Given the description of an element on the screen output the (x, y) to click on. 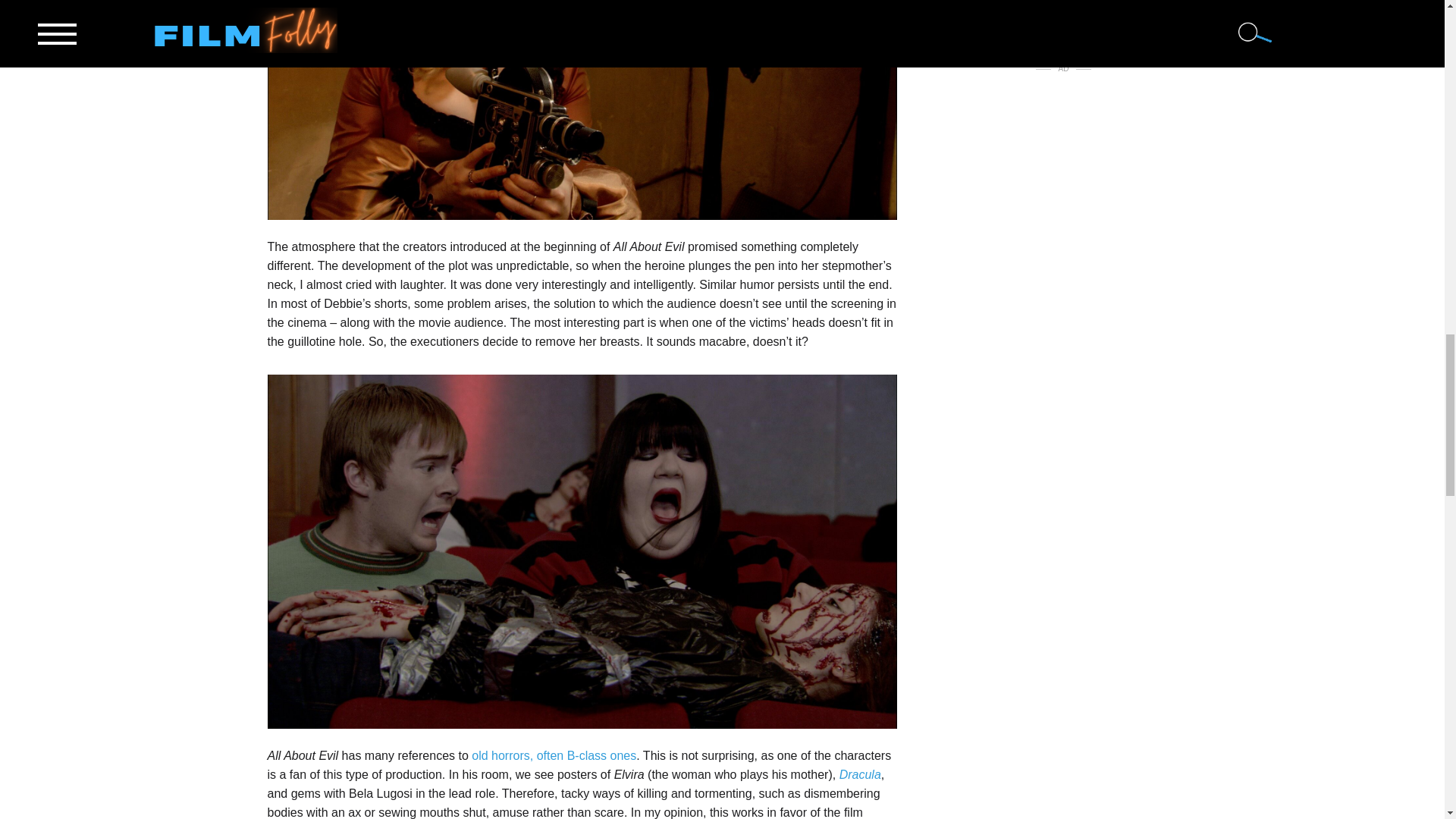
Dracula (860, 774)
old horrors, often B-class ones (553, 755)
Actors Who Have Bad Memories of the Characters They Played (1062, 4)
